Given the description of an element on the screen output the (x, y) to click on. 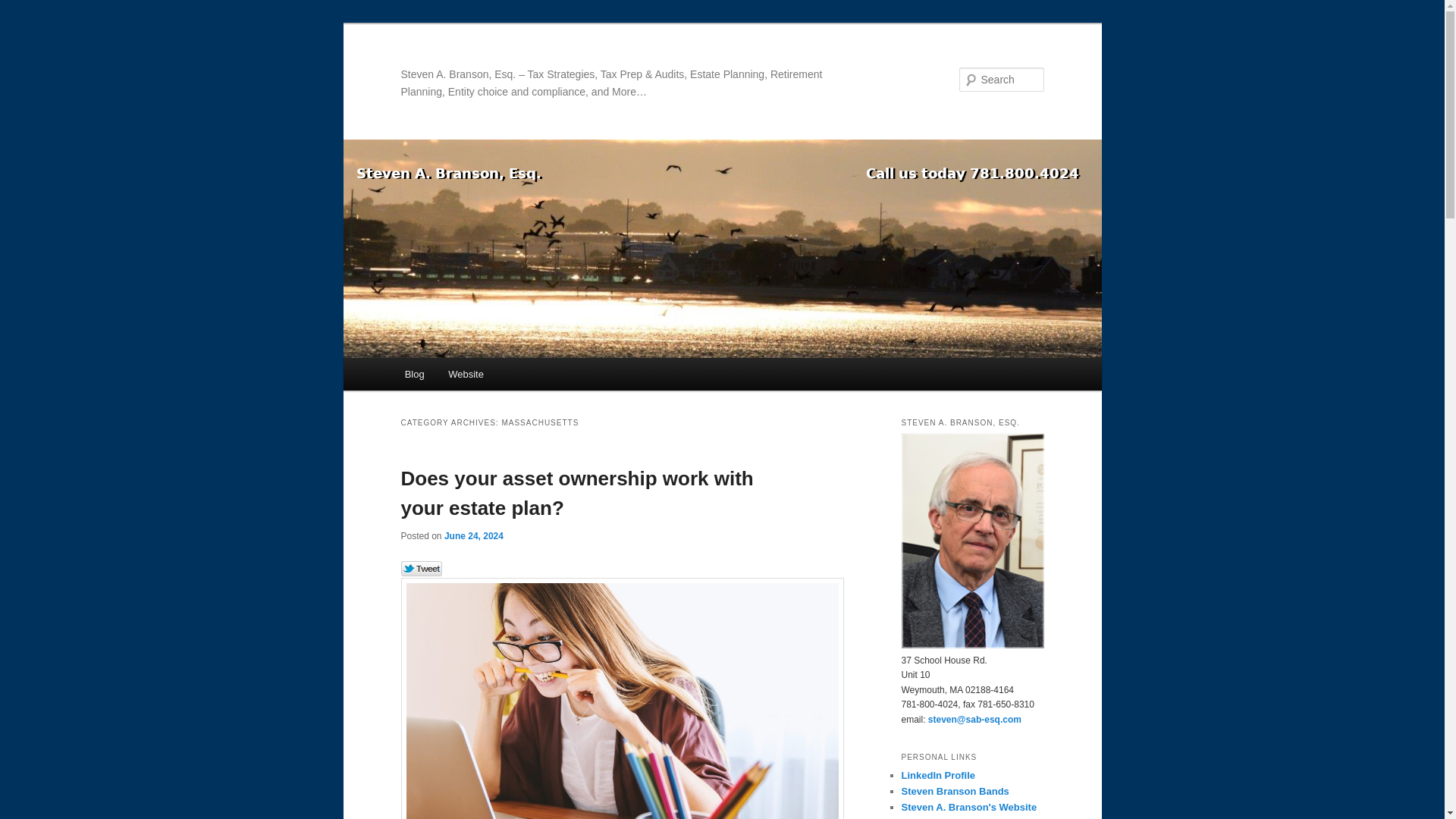
1:42 pm (473, 535)
Search (24, 8)
email Steven A. Branson (975, 719)
Blog (414, 373)
Does your asset ownership work with your estate plan? (576, 492)
Articles to help you achieve your financial goals (940, 818)
Website (465, 373)
June 24, 2024 (473, 535)
LinkedIn Profile (938, 774)
Tweet (421, 569)
